Given the description of an element on the screen output the (x, y) to click on. 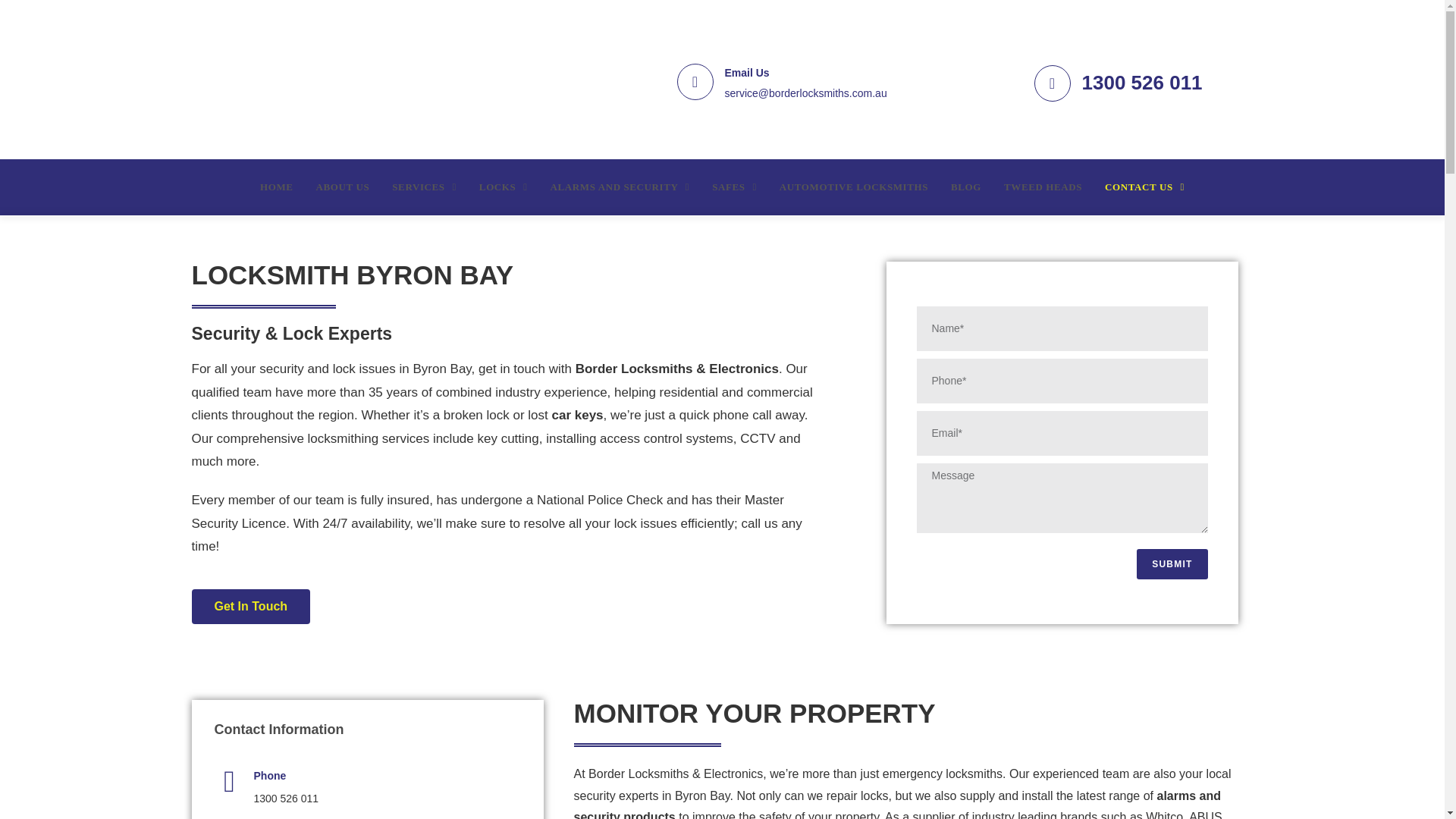
TWEED HEADS (1042, 186)
AUTOMOTIVE LOCKSMITHS (853, 186)
ABOUT US (342, 186)
SAFES (734, 186)
LOCKS (502, 186)
SERVICES (423, 186)
BLOG (965, 186)
ALARMS AND SECURITY (619, 186)
1300 526 011 (1141, 82)
HOME (276, 186)
